Given the description of an element on the screen output the (x, y) to click on. 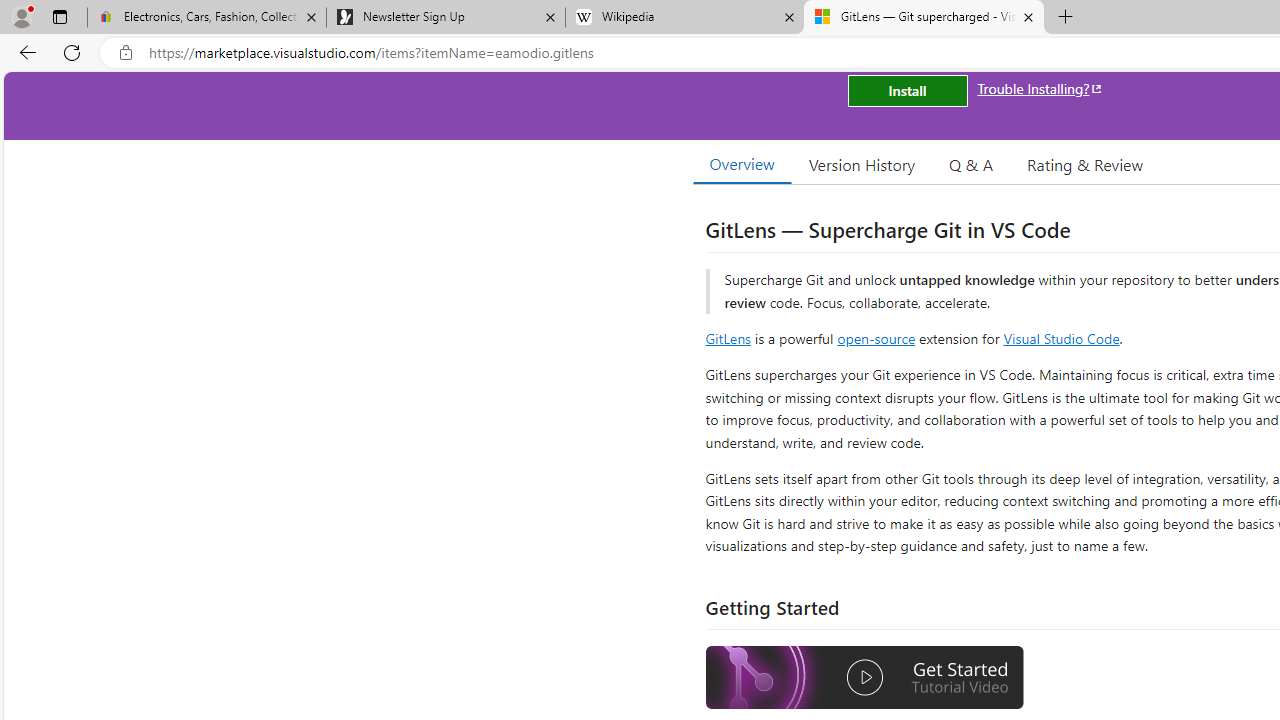
View site information (125, 53)
Back (24, 52)
open-source (876, 337)
Newsletter Sign Up (445, 17)
Refresh (72, 52)
Wikipedia (684, 17)
